Given the description of an element on the screen output the (x, y) to click on. 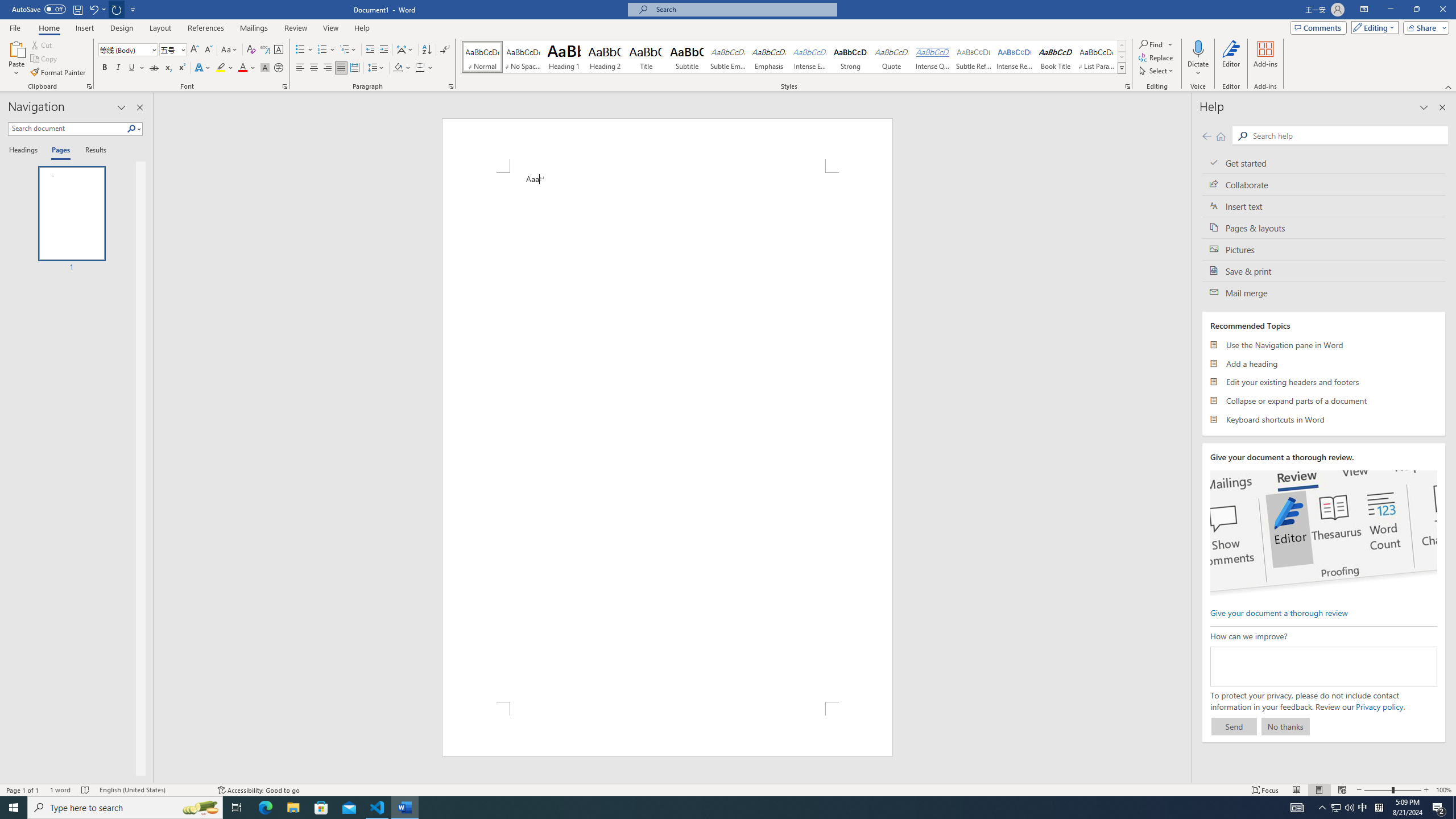
Text Highlight Color (224, 67)
Use the Navigation pane in Word (1323, 344)
Print Layout (1318, 790)
Numbering (326, 49)
Collaborate (1323, 184)
Font Size (169, 49)
Mode (1372, 27)
Shrink Font (208, 49)
Styles (1121, 67)
Text Highlight Color Yellow (220, 67)
Increase Indent (383, 49)
